Given the description of an element on the screen output the (x, y) to click on. 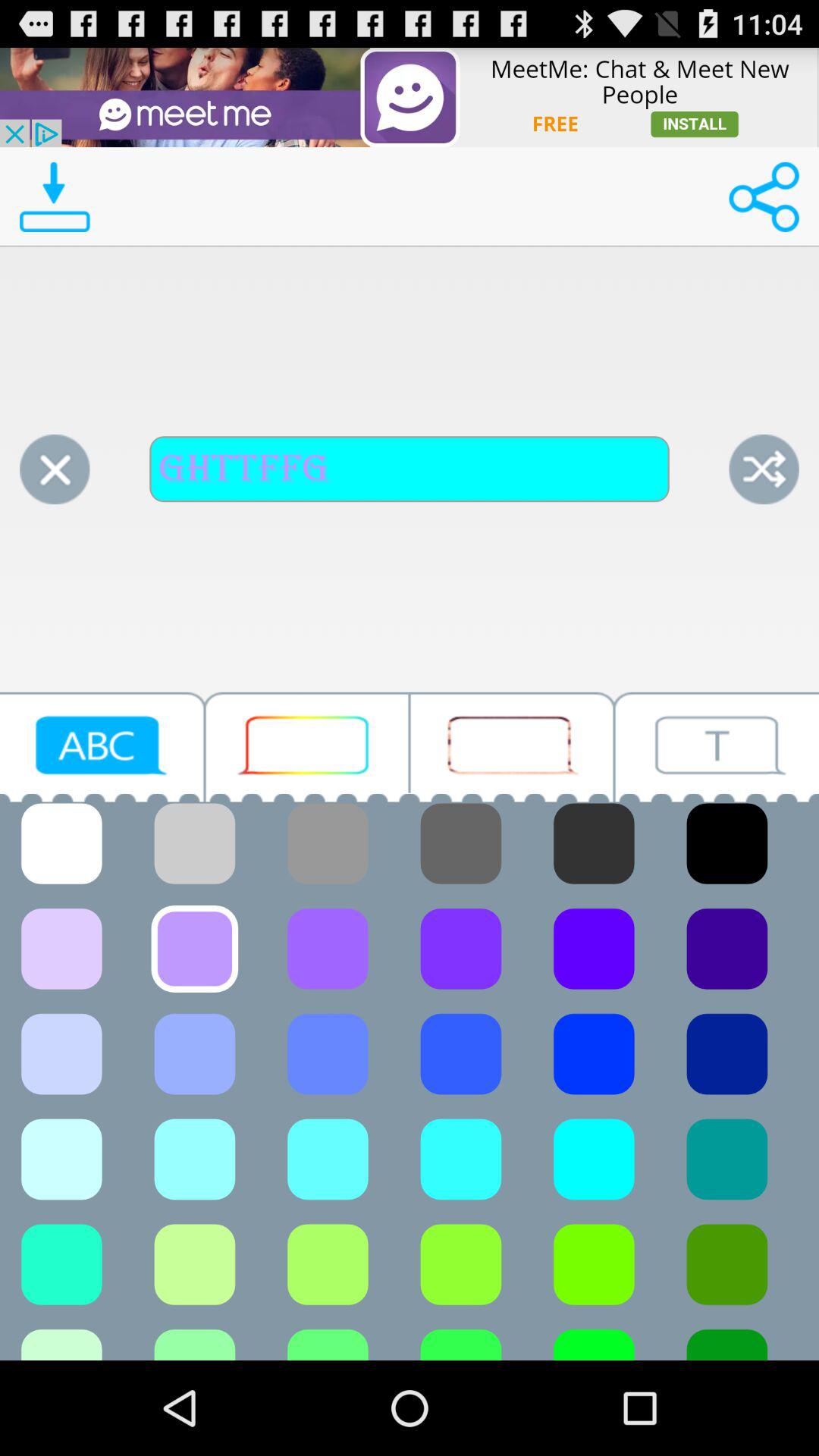
download (54, 197)
